Given the description of an element on the screen output the (x, y) to click on. 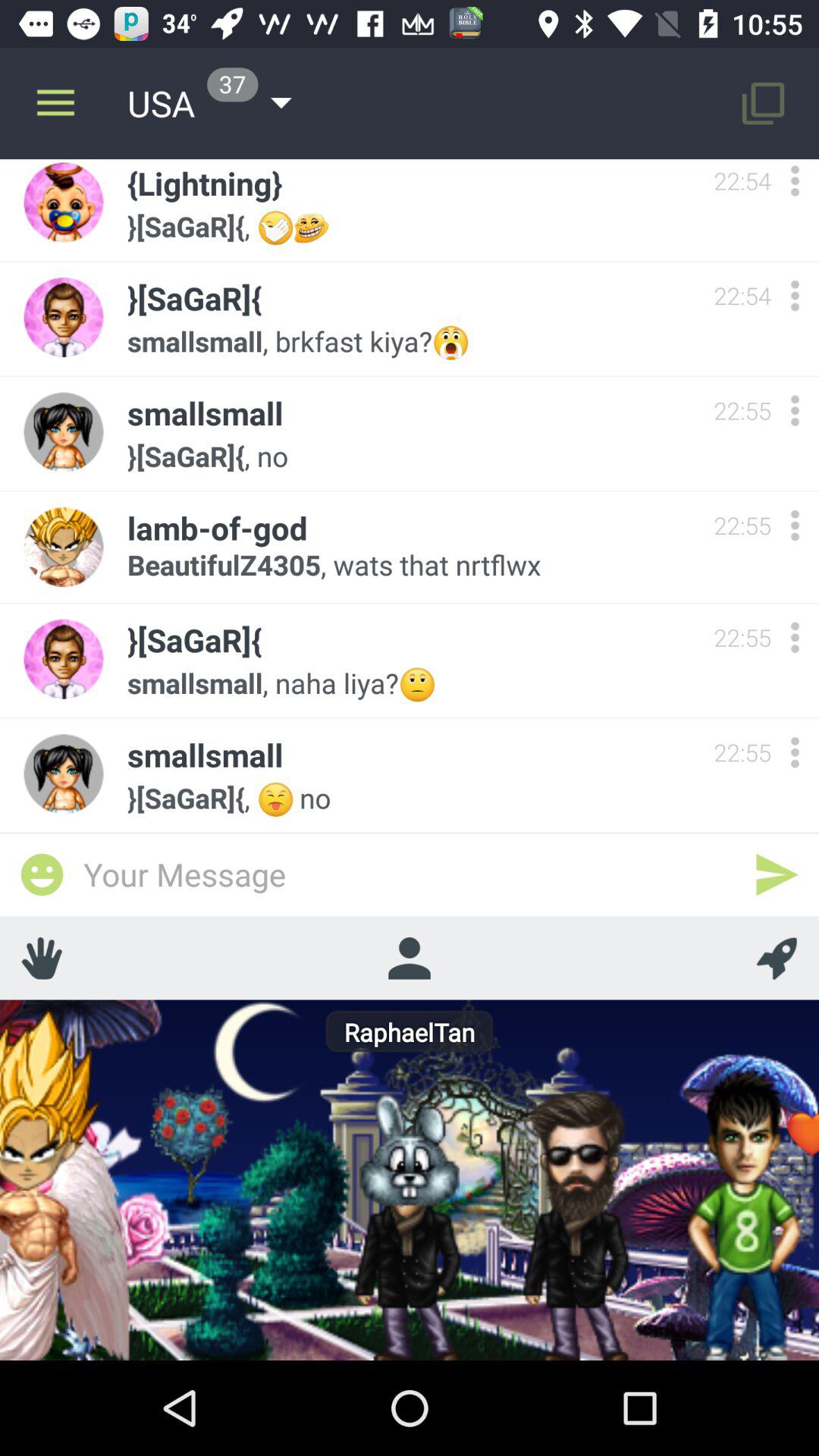
view options (795, 410)
